Given the description of an element on the screen output the (x, y) to click on. 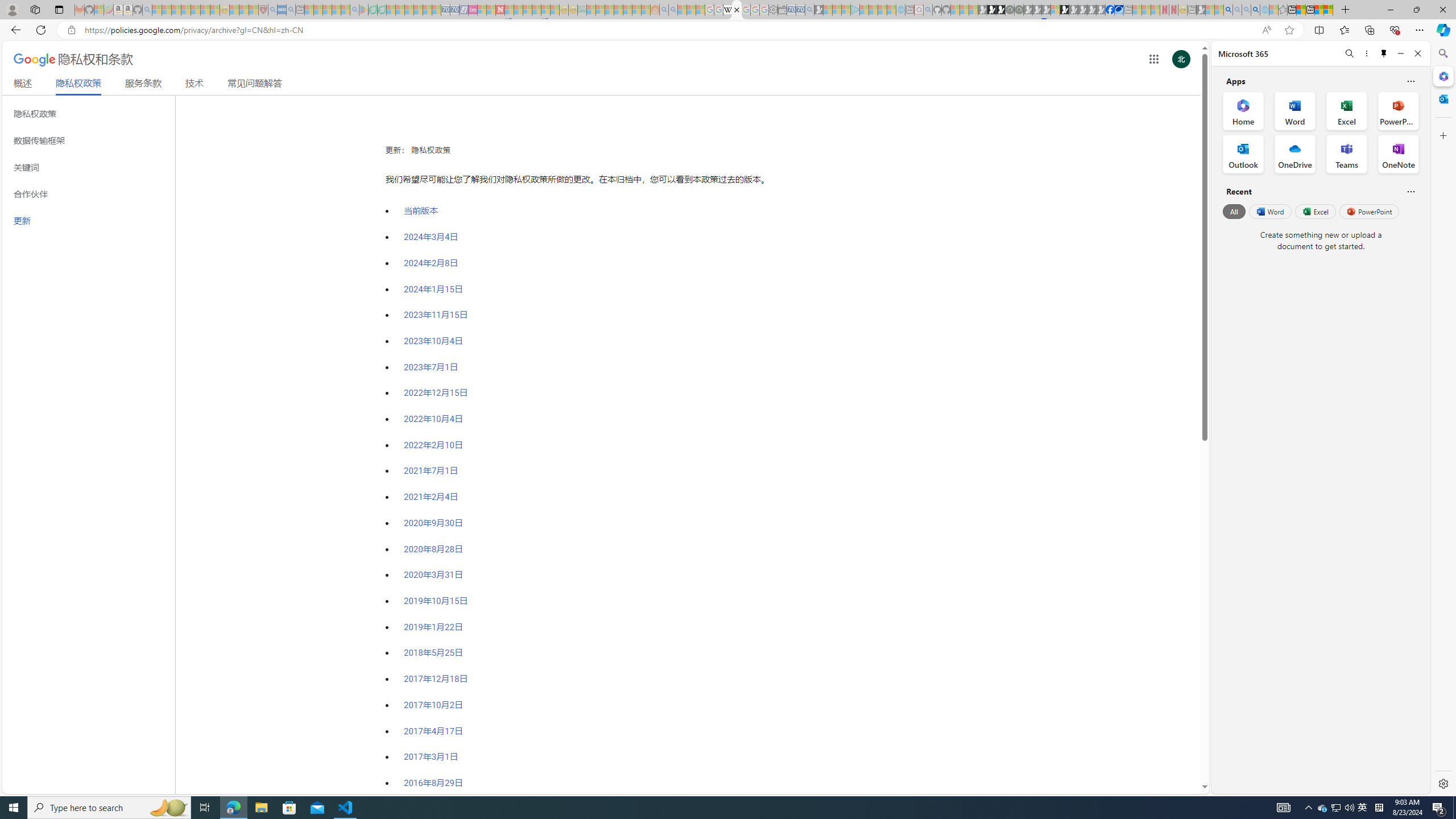
Favorites - Sleeping (1283, 9)
Outlook Office App (1243, 154)
14 Common Myths Debunked By Scientific Facts - Sleeping (518, 9)
Kinda Frugal - MSN - Sleeping (627, 9)
Teams Office App (1346, 154)
All (1233, 210)
